Given the description of an element on the screen output the (x, y) to click on. 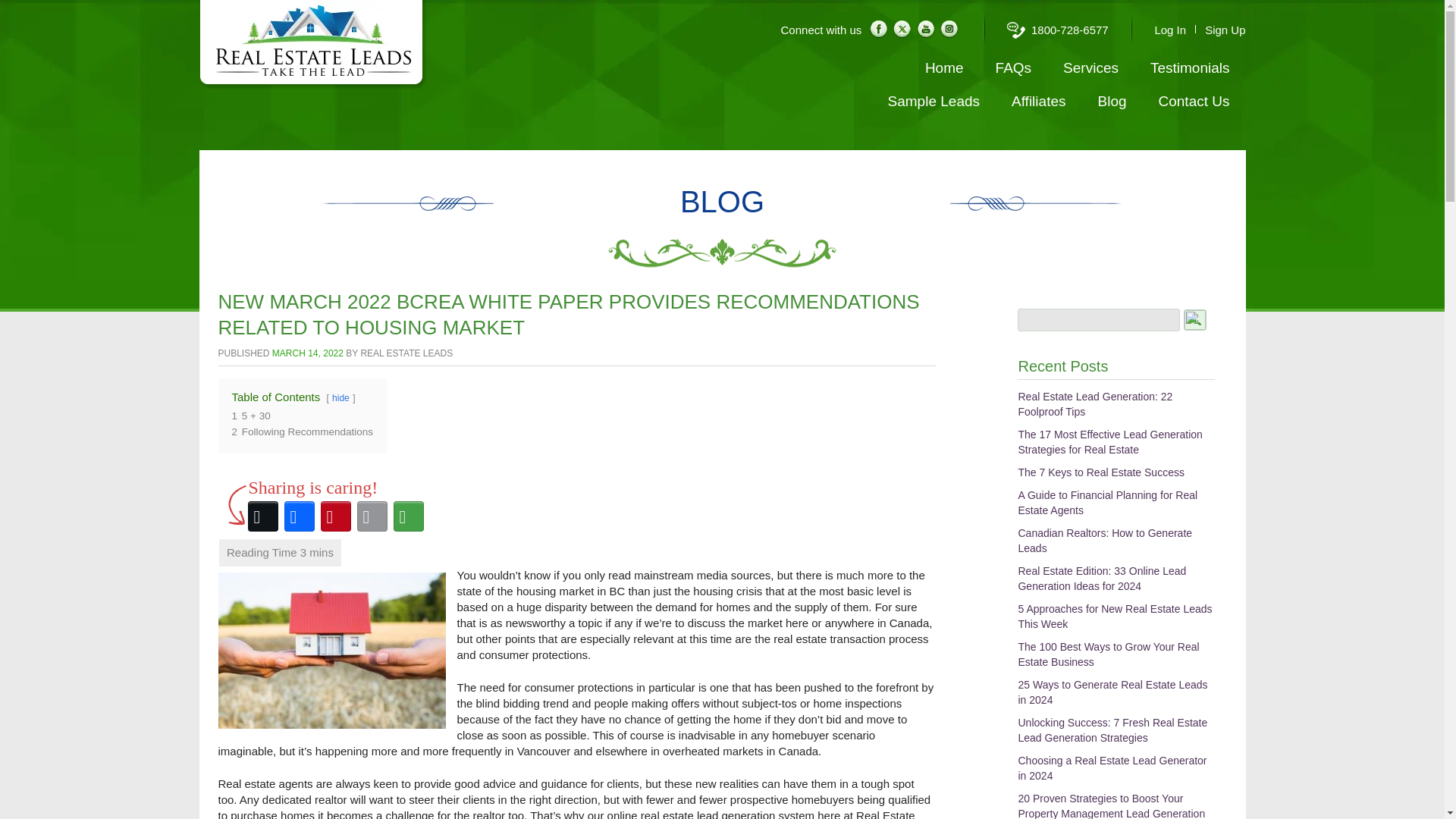
Real Estate Lead Generation: 22 Foolproof Tips (1094, 403)
Contact Us (1193, 101)
More Options (408, 515)
Home (943, 68)
Pinterest (335, 515)
Sample Leads (933, 101)
Email This (371, 515)
MARCH 14, 2022 (307, 353)
Facebook (299, 515)
Canadian Realtors: How to Generate Leads (1104, 540)
A Guide to Financial Planning for Real Estate Agents (1106, 502)
Log In (1170, 29)
The 7 Keys to Real Estate Success (1100, 472)
2 Following Recommendations (302, 431)
